Given the description of an element on the screen output the (x, y) to click on. 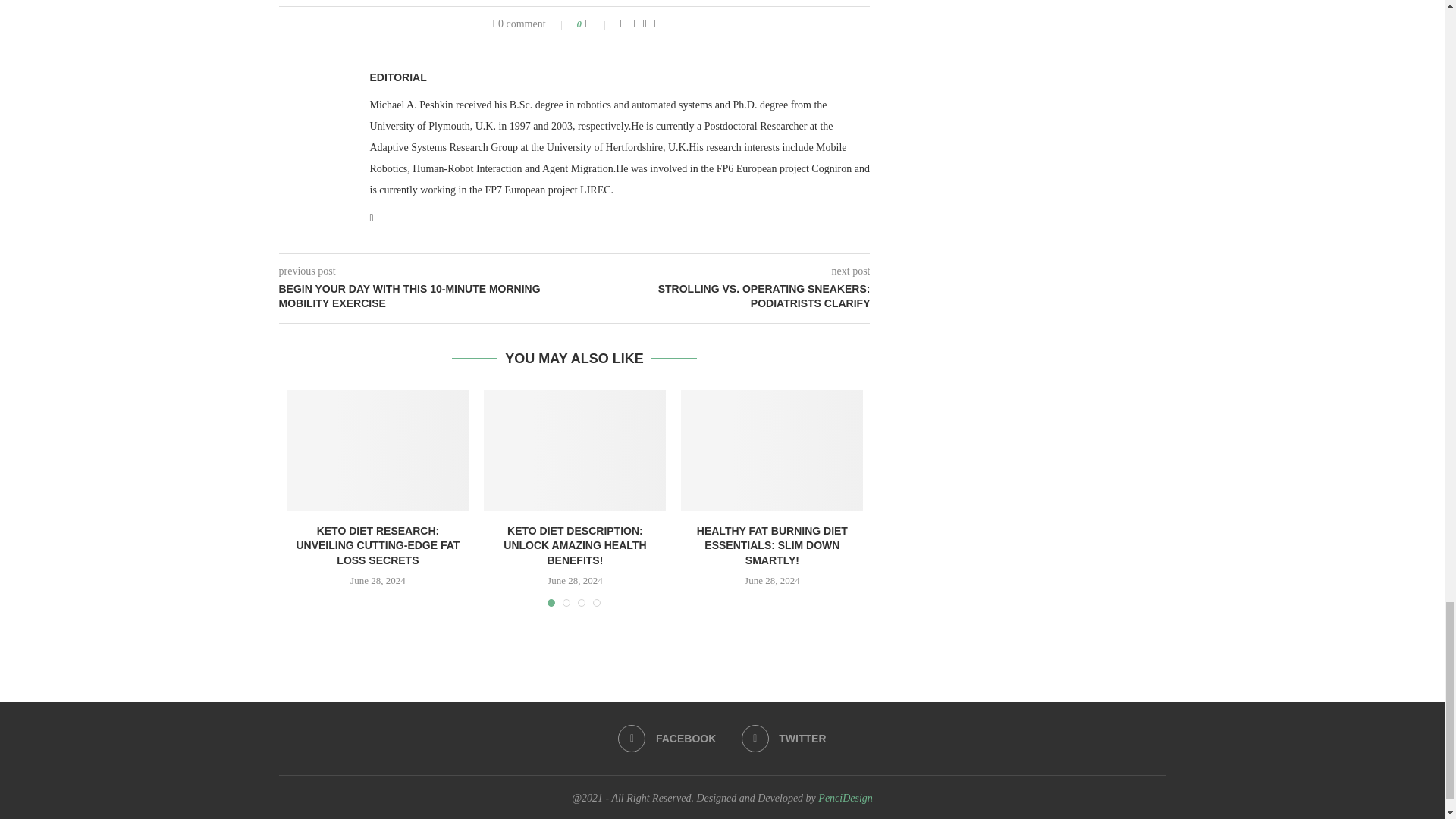
STROLLING VS. OPERATING SNEAKERS: PODIATRISTS CLARIFY (722, 296)
Author Editorial (397, 77)
Keto Diet Research: Unveiling Cutting-Edge Fat Loss Secrets (377, 450)
BEGIN YOUR DAY WITH THIS 10-MINUTE MORNING MOBILITY EXERCISE (427, 296)
EDITORIAL (397, 77)
Like (597, 24)
Healthy Fat Burning Diet Essentials: Slim Down Smartly! (772, 450)
Keto Diet Description: Unlock Amazing Health Benefits! (574, 450)
